Given the description of an element on the screen output the (x, y) to click on. 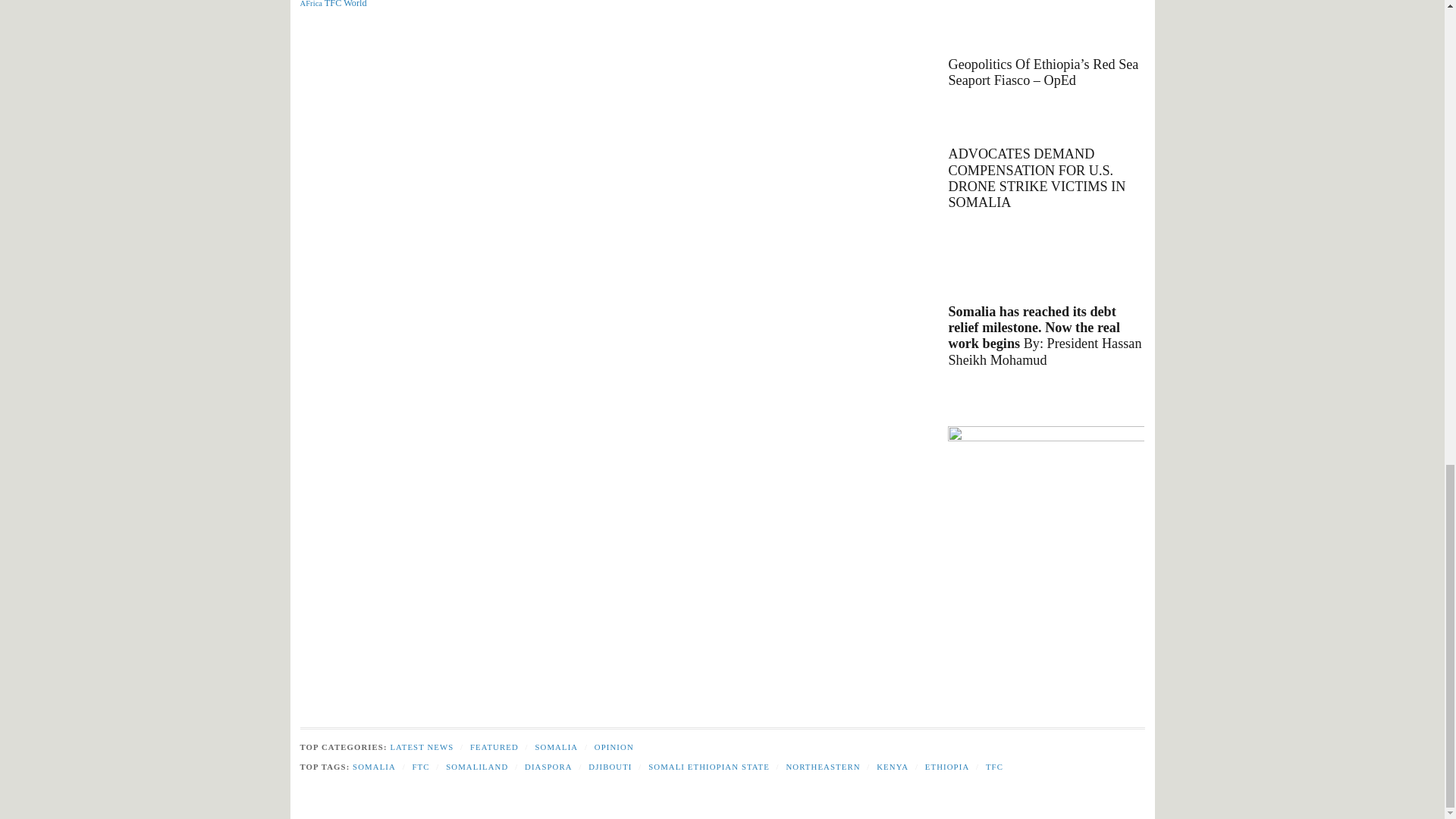
TFC (333, 4)
South AFrica (356, 3)
World (354, 4)
